Given the description of an element on the screen output the (x, y) to click on. 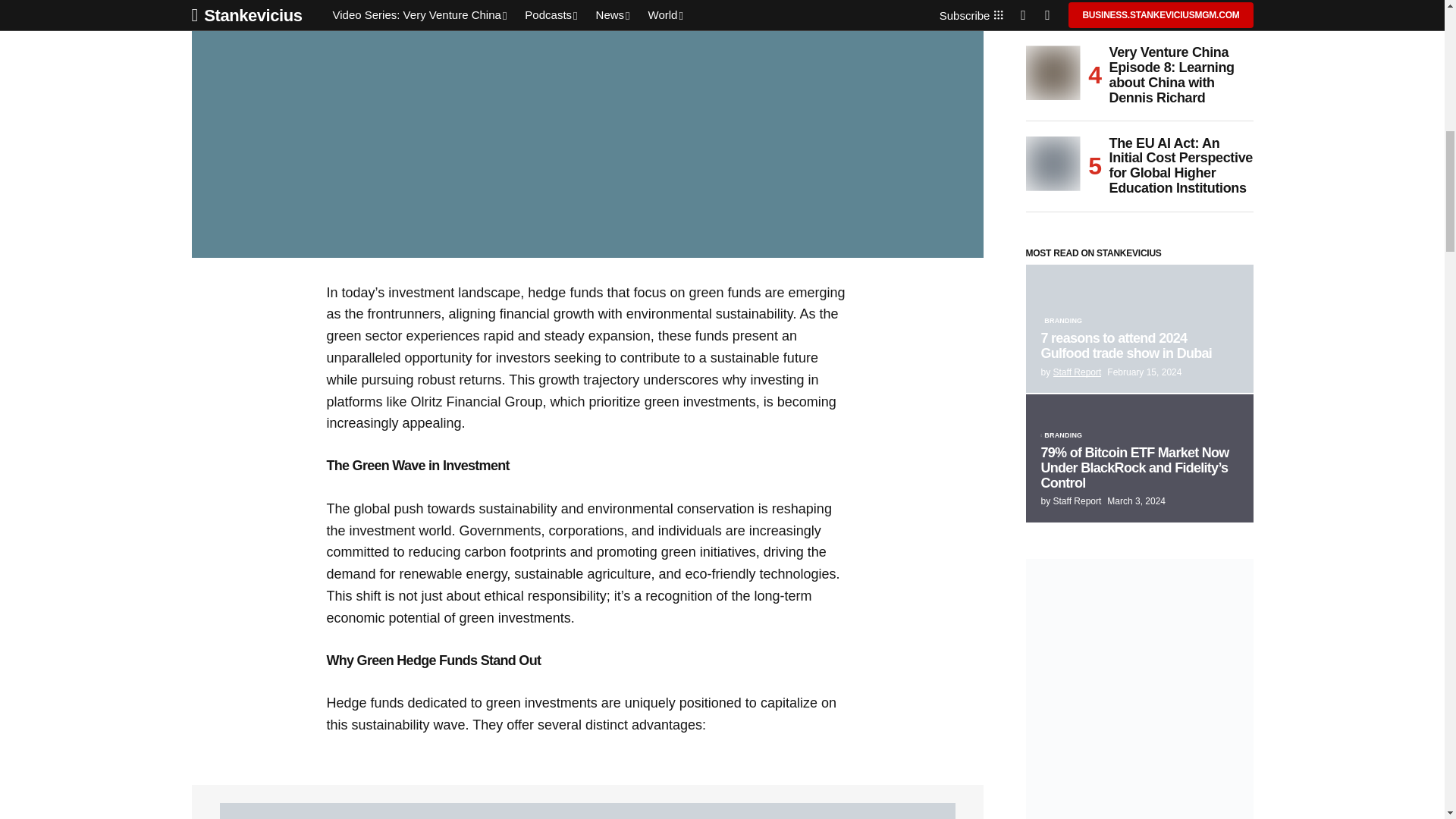
Ad Banner (587, 811)
